Given the description of an element on the screen output the (x, y) to click on. 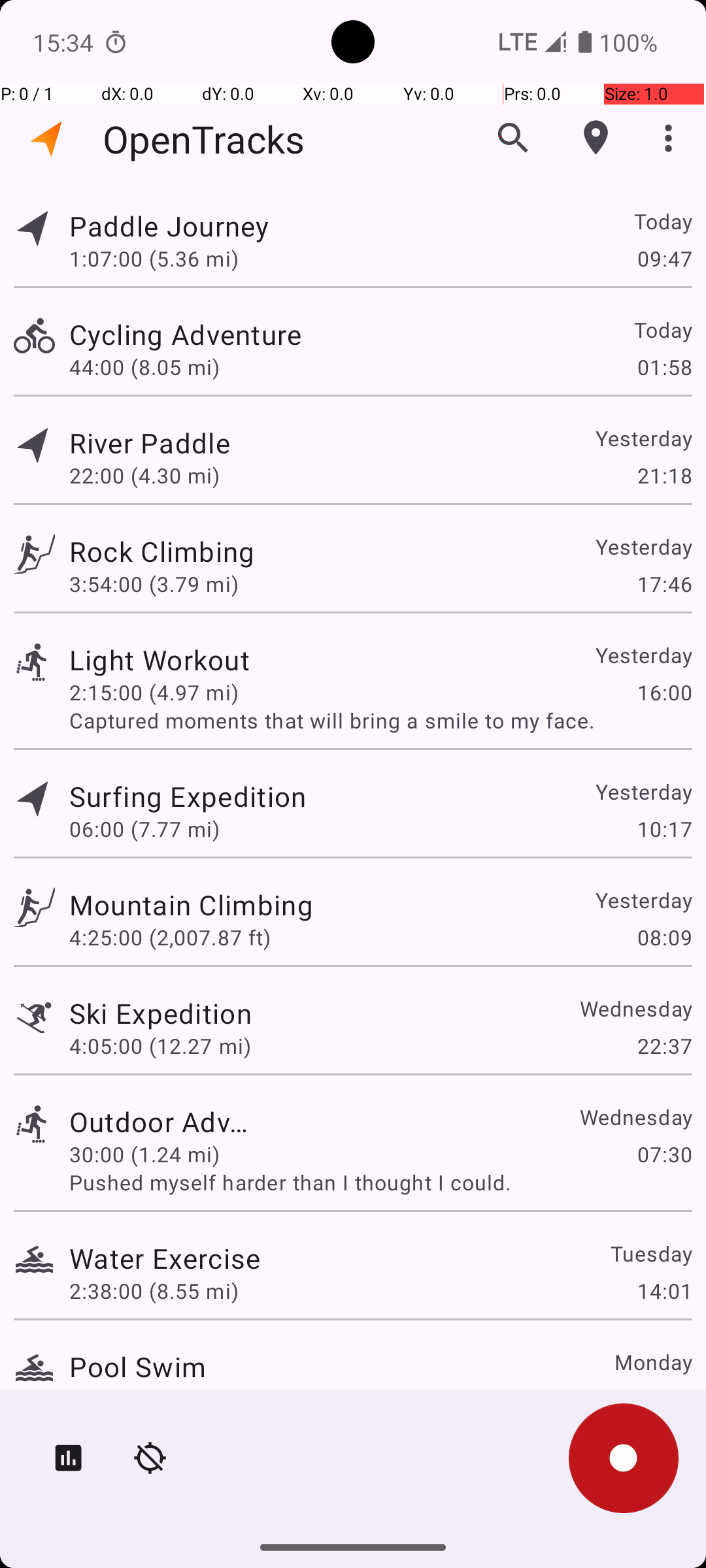
Paddle Journey Element type: android.widget.TextView (168, 225)
1:07:00 (5.36 mi) Element type: android.widget.TextView (153, 258)
09:47 Element type: android.widget.TextView (664, 258)
Cycling Adventure Element type: android.widget.TextView (185, 333)
44:00 (8.05 mi) Element type: android.widget.TextView (144, 366)
01:58 Element type: android.widget.TextView (664, 366)
River Paddle Element type: android.widget.TextView (149, 442)
22:00 (4.30 mi) Element type: android.widget.TextView (144, 475)
21:18 Element type: android.widget.TextView (664, 475)
Rock Climbing Element type: android.widget.TextView (161, 550)
3:54:00 (3.79 mi) Element type: android.widget.TextView (153, 583)
17:46 Element type: android.widget.TextView (664, 583)
Light Workout Element type: android.widget.TextView (159, 659)
2:15:00 (4.97 mi) Element type: android.widget.TextView (153, 692)
Captured moments that will bring a smile to my face. Element type: android.widget.TextView (380, 720)
Surfing Expedition Element type: android.widget.TextView (187, 795)
06:00 (7.77 mi) Element type: android.widget.TextView (144, 828)
10:17 Element type: android.widget.TextView (664, 828)
Mountain Climbing Element type: android.widget.TextView (190, 904)
4:25:00 (2,007.87 ft) Element type: android.widget.TextView (169, 937)
08:09 Element type: android.widget.TextView (664, 937)
Ski Expedition Element type: android.widget.TextView (190, 1012)
4:05:00 (12.27 mi) Element type: android.widget.TextView (159, 1045)
22:37 Element type: android.widget.TextView (664, 1045)
Outdoor Adventure Element type: android.widget.TextView (160, 1121)
30:00 (1.24 mi) Element type: android.widget.TextView (159, 1154)
07:30 Element type: android.widget.TextView (664, 1154)
Pushed myself harder than I thought I could. Element type: android.widget.TextView (380, 1182)
Water Exercise Element type: android.widget.TextView (164, 1257)
2:38:00 (8.55 mi) Element type: android.widget.TextView (153, 1290)
14:01 Element type: android.widget.TextView (664, 1290)
Pool Swim Element type: android.widget.TextView (137, 1366)
1:08:00 (5.91 mi) Element type: android.widget.TextView (153, 1399)
05:29 Element type: android.widget.TextView (664, 1399)
